Given the description of an element on the screen output the (x, y) to click on. 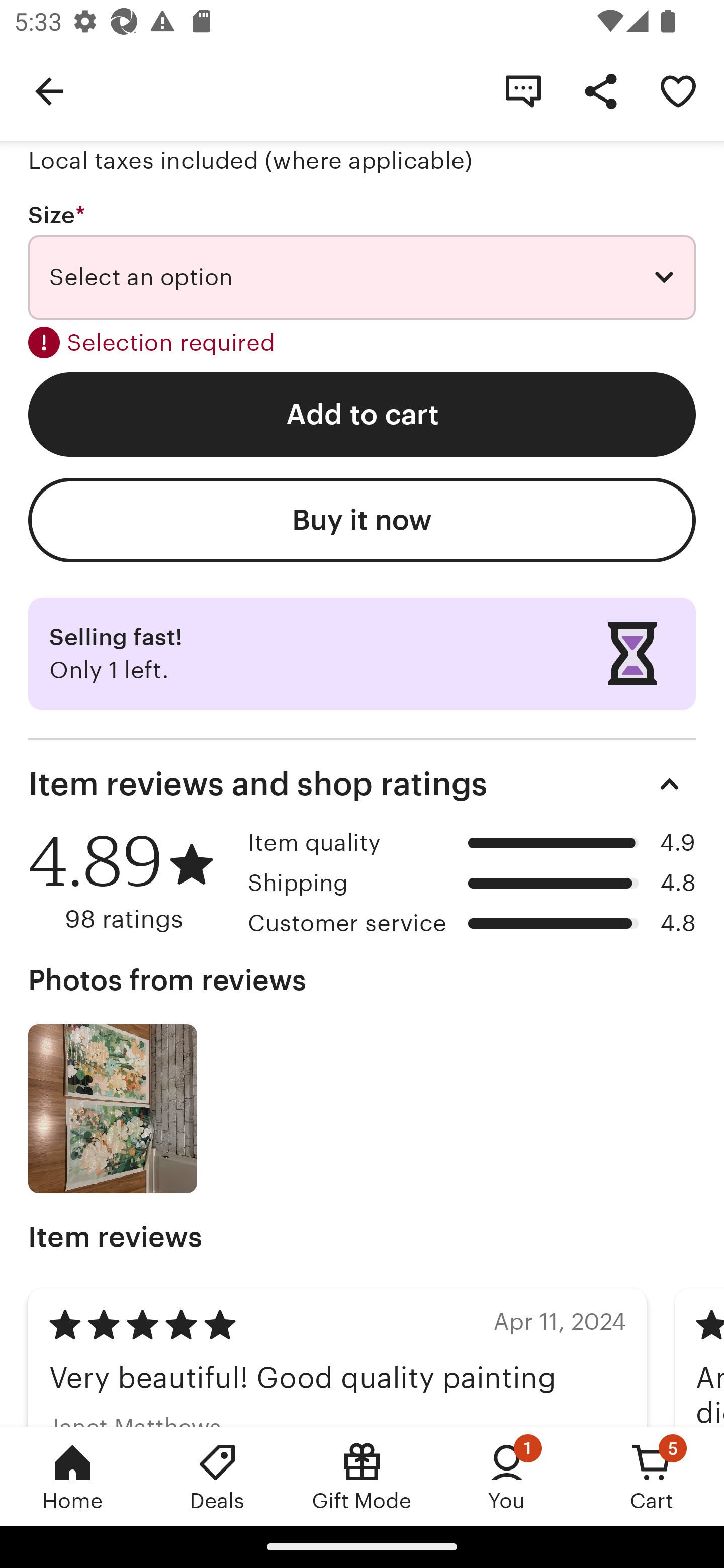
Navigate up (49, 90)
Contact shop (523, 90)
Share (600, 90)
Select an option (361, 277)
Add to cart (361, 414)
Buy it now (361, 520)
Item reviews and shop ratings (362, 783)
4.89 98 ratings (130, 880)
Photo from review (112, 1108)
Deals (216, 1475)
Gift Mode (361, 1475)
You, 1 new notification You (506, 1475)
Cart, 5 new notifications Cart (651, 1475)
